Given the description of an element on the screen output the (x, y) to click on. 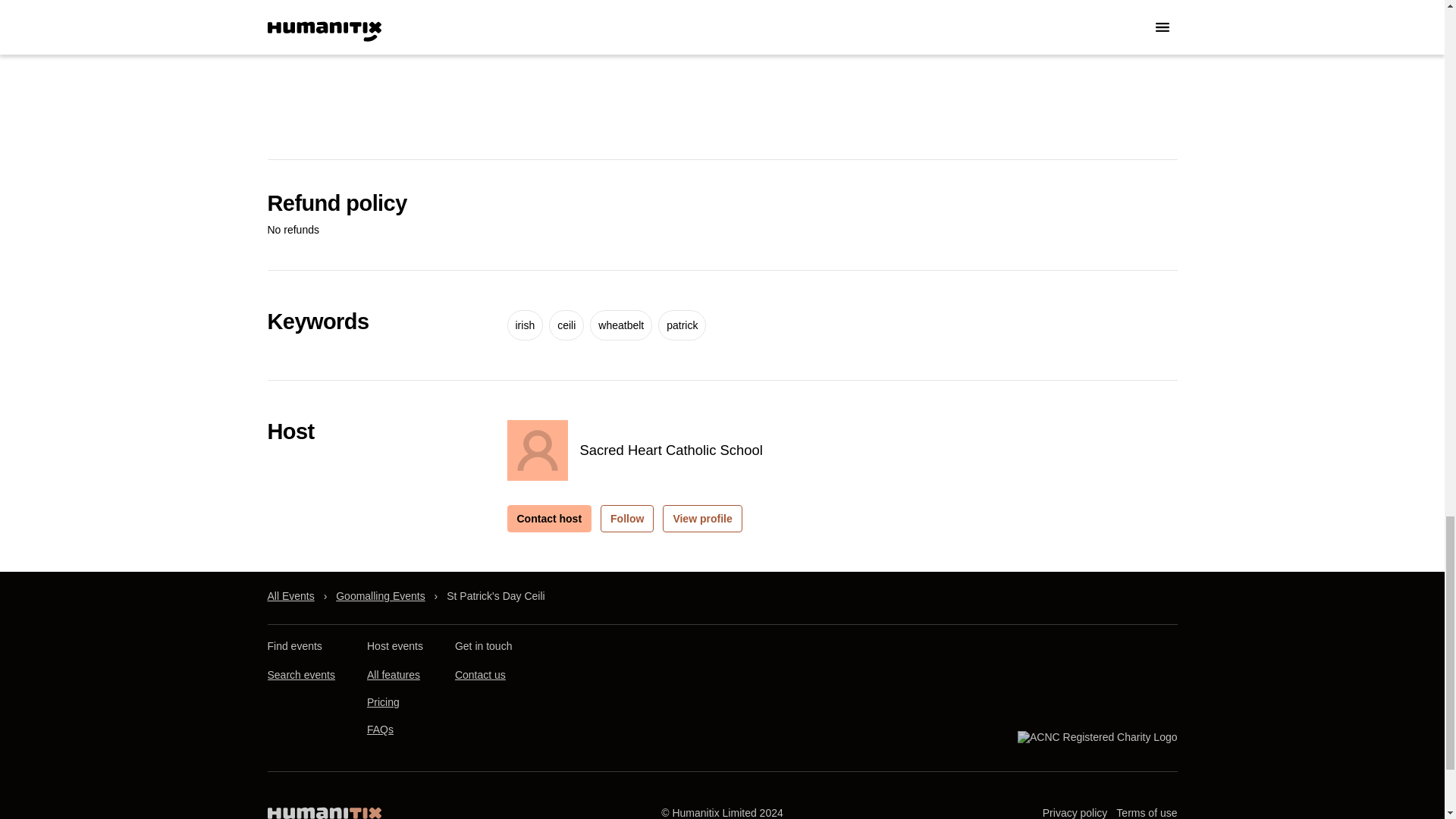
View profile (701, 518)
All features (393, 675)
All Events (290, 596)
Contact host (548, 518)
Follow (626, 518)
Search events (300, 675)
Goomalling Events (380, 596)
Pricing (382, 702)
St Patrick'S Day Ceili (495, 596)
